Given the description of an element on the screen output the (x, y) to click on. 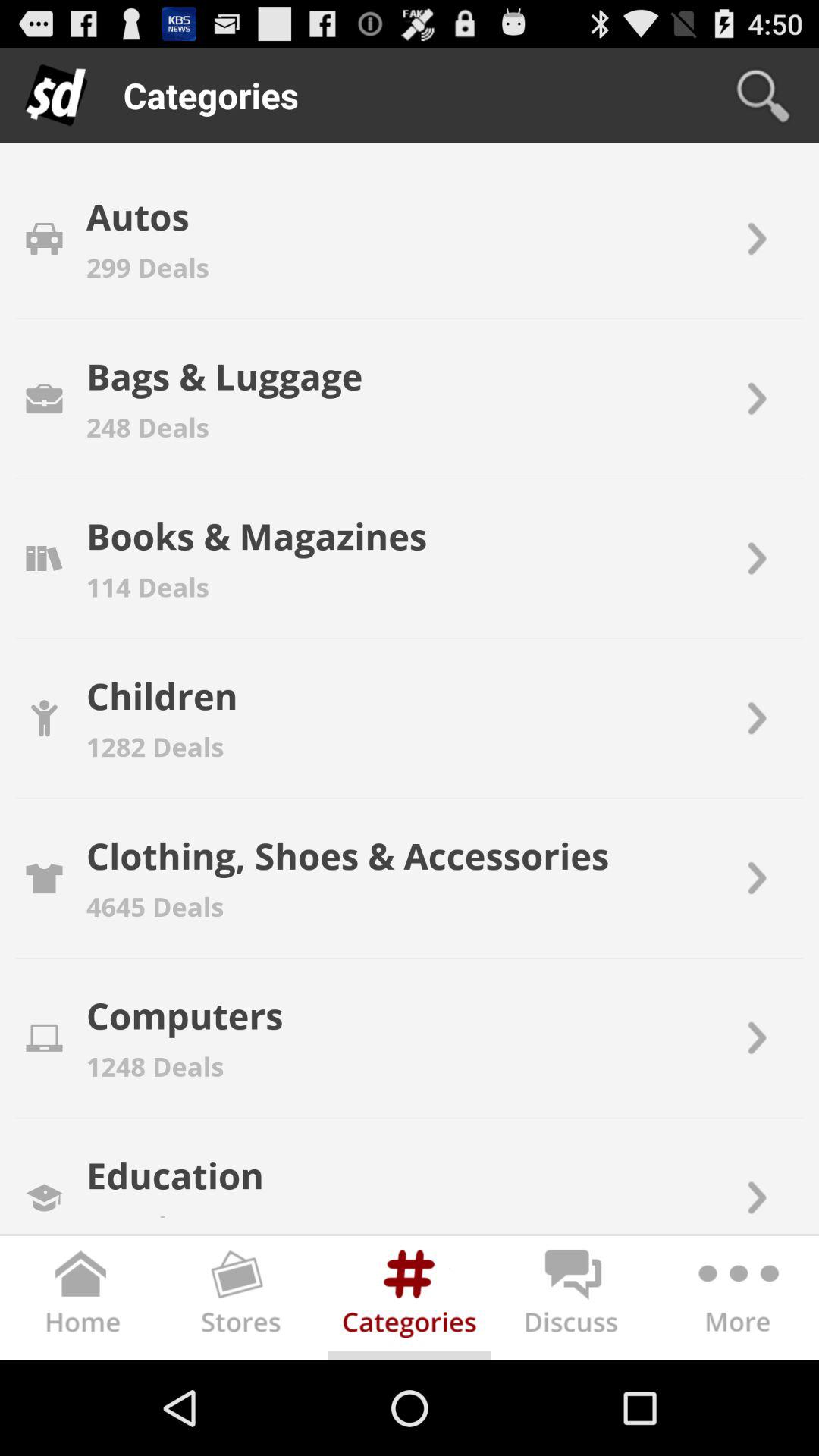
view more options (736, 1300)
